Given the description of an element on the screen output the (x, y) to click on. 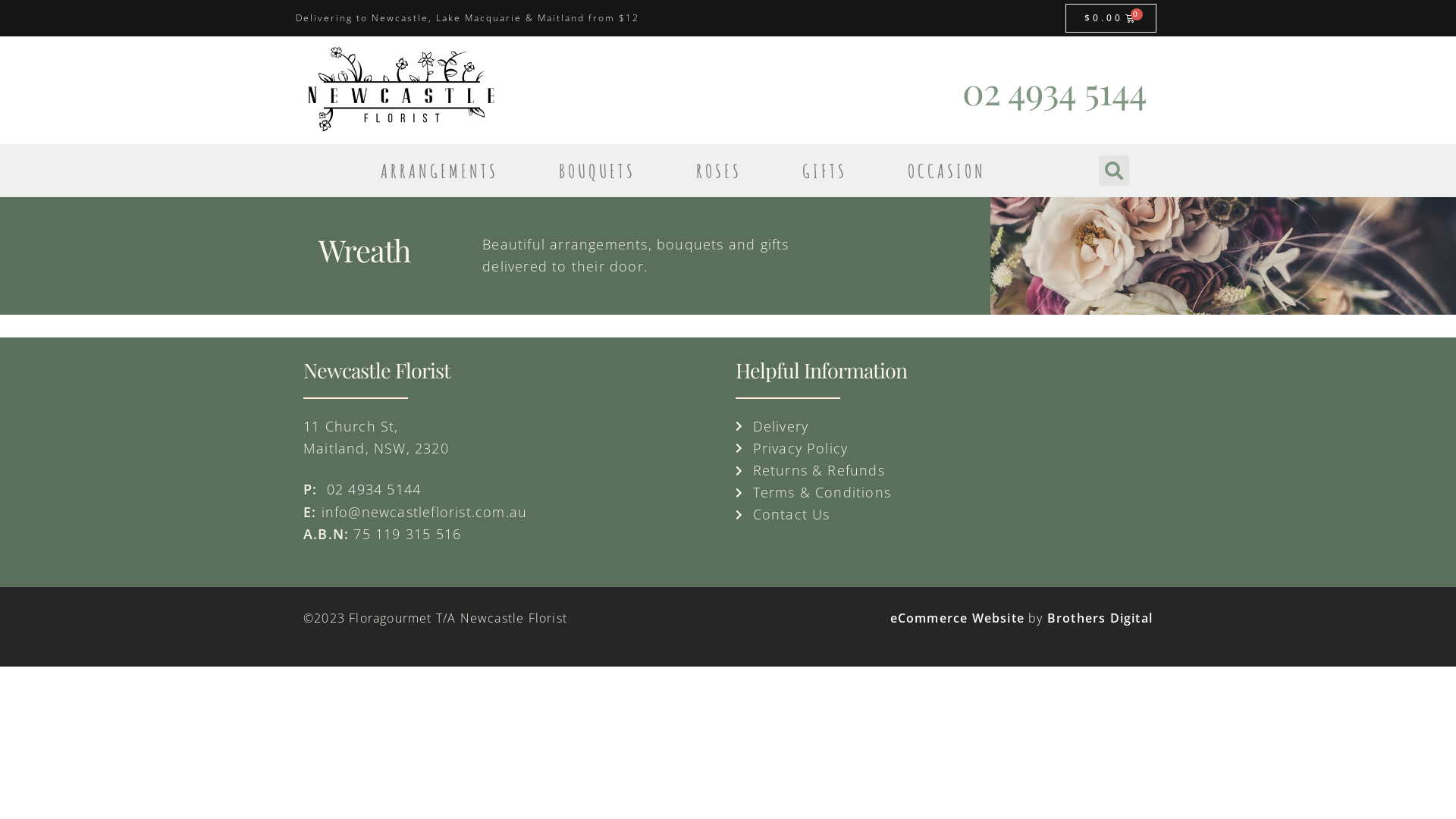
ROSES Element type: text (718, 170)
 02 4934 5144 Element type: text (371, 489)
$0.00
0 Element type: text (1111, 17)
BOUQUETS Element type: text (596, 170)
Privacy Policy Element type: text (943, 448)
Terms & Conditions Element type: text (943, 492)
ARRANGEMENTS Element type: text (439, 170)
02 4934 5144 Element type: text (1054, 89)
Delivery Element type: text (943, 426)
Brothers Digital Element type: text (1099, 617)
Contact Us Element type: text (943, 514)
OCCASION Element type: text (946, 170)
Returns & Refunds Element type: text (943, 470)
GIFTS Element type: text (824, 170)
eCommerce Website Element type: text (957, 617)
